Given the description of an element on the screen output the (x, y) to click on. 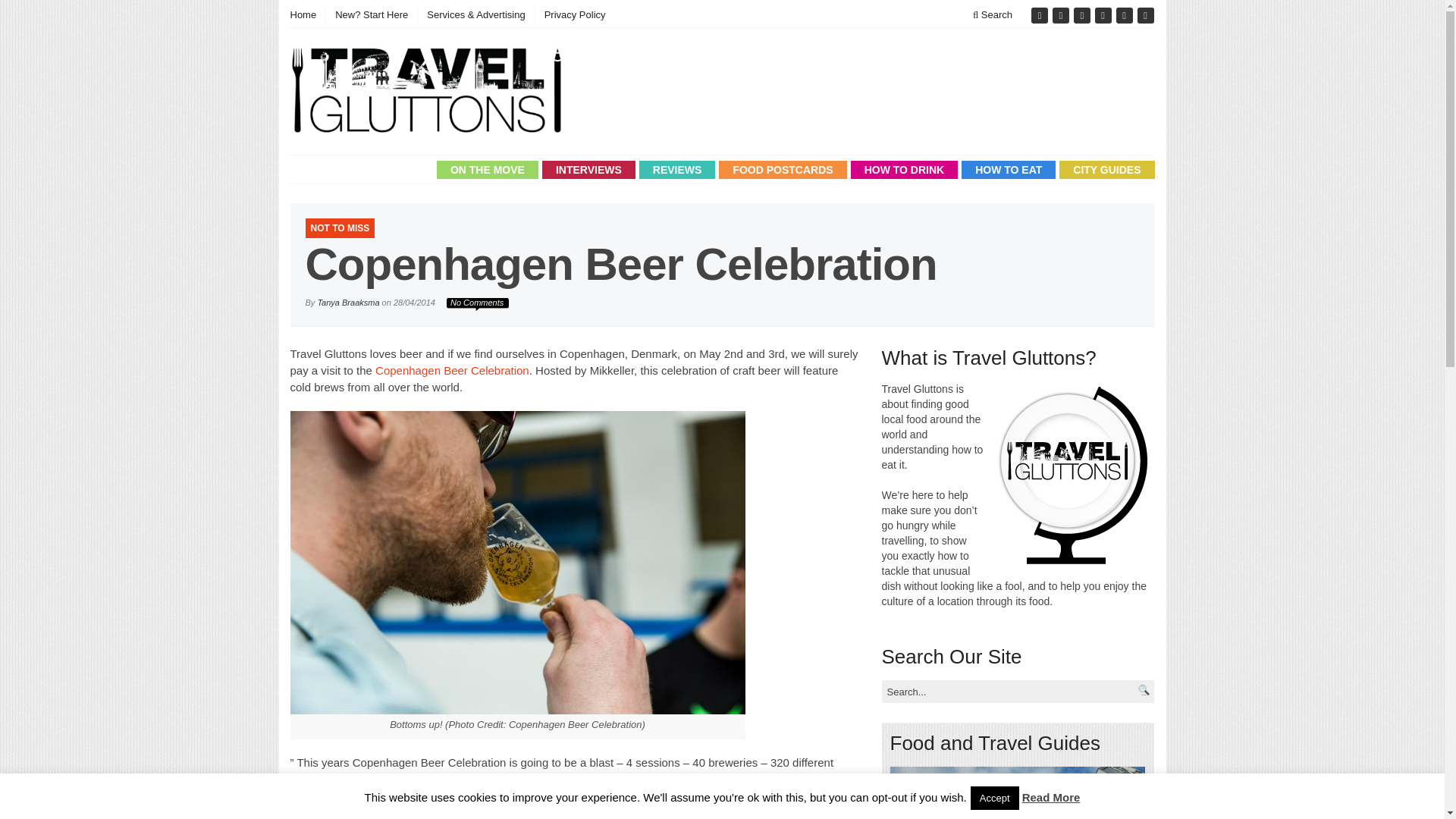
Travel Gluttons (425, 90)
Privacy Policy (574, 14)
Facebook (1040, 15)
HOW TO EAT (1007, 169)
Search... (991, 691)
Site feed (1144, 15)
Copenhagen Beer Celebration (452, 369)
INTERVIEWS (587, 169)
HOW TO DRINK (904, 169)
FOOD POSTCARDS (782, 169)
New? Start Here (370, 14)
CITY GUIDES (1106, 169)
Twitter (1062, 15)
Instagram (1126, 15)
Pinterest (1104, 15)
